Given the description of an element on the screen output the (x, y) to click on. 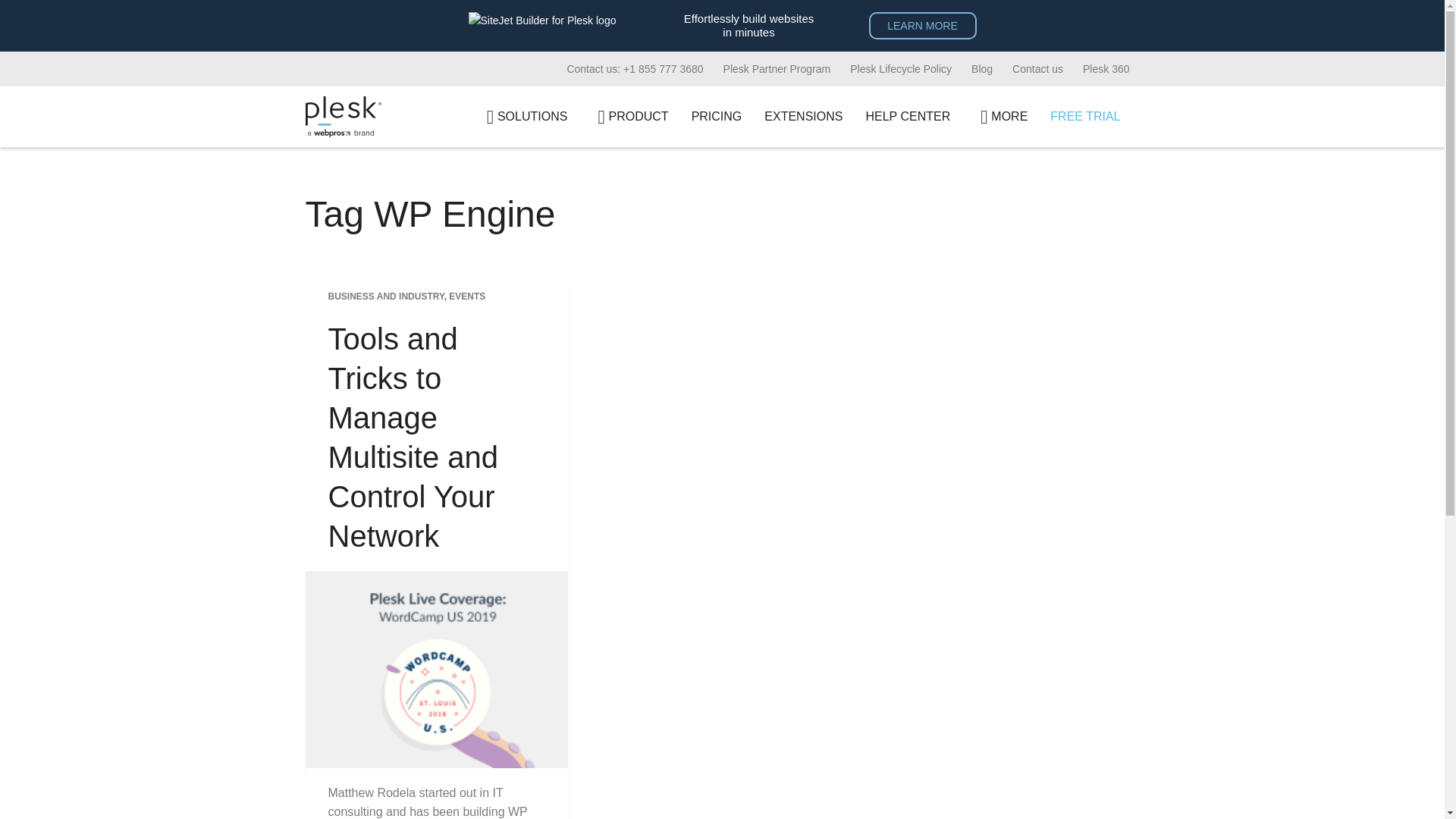
LEARN MORE (922, 25)
Plesk Lifecycle Policy (900, 68)
Contact us (1038, 68)
SOLUTIONS (523, 116)
Plesk Partner Program (777, 68)
Plesk 360 (1105, 68)
Tag WP Engine (721, 214)
Blog (981, 68)
Skip to content (15, 7)
